Given the description of an element on the screen output the (x, y) to click on. 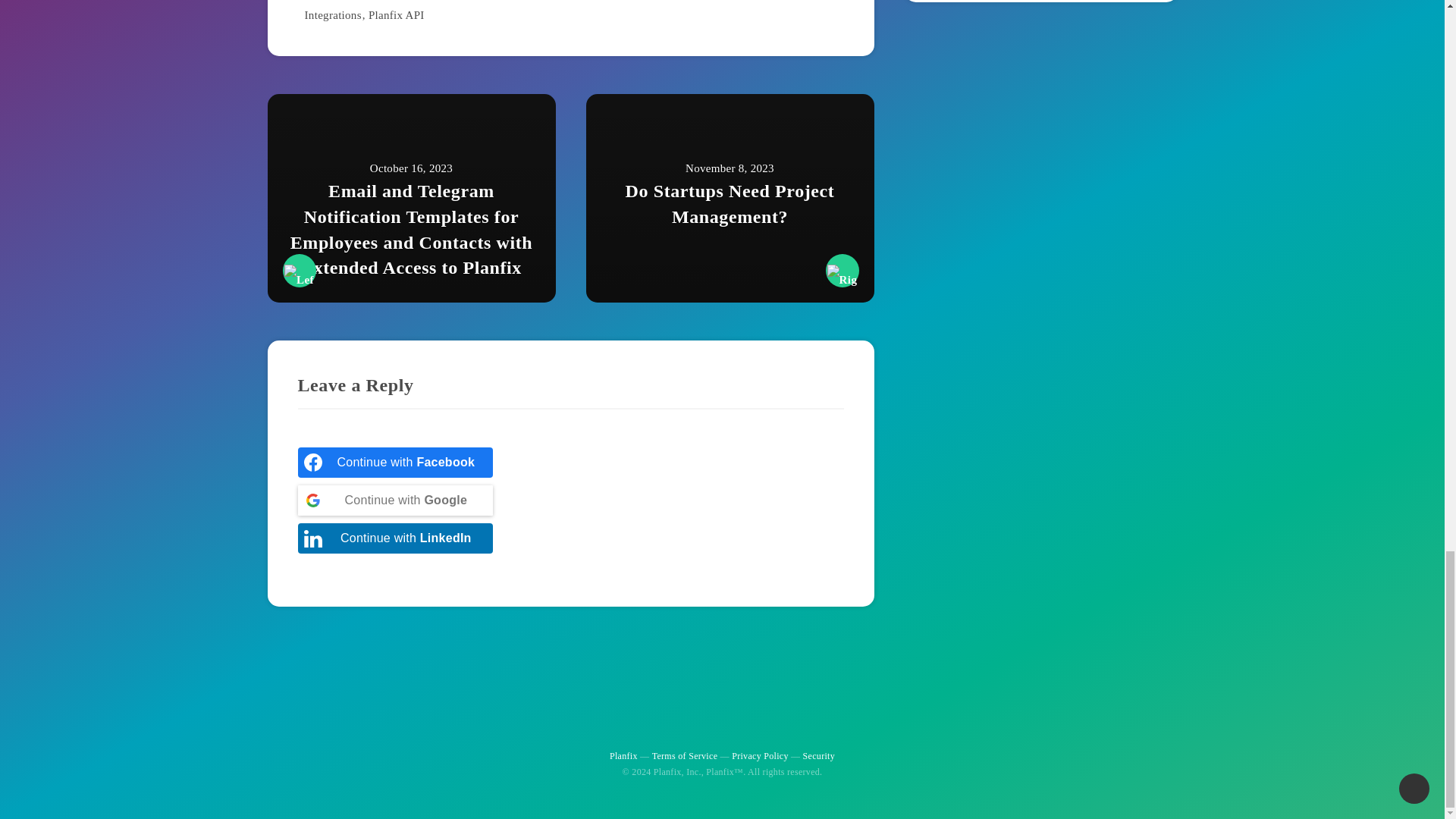
Continue with Facebook (395, 462)
Continue with LinkedIn (395, 538)
Continue with Google (395, 500)
Planfix API (396, 15)
Integrations (332, 15)
